Given the description of an element on the screen output the (x, y) to click on. 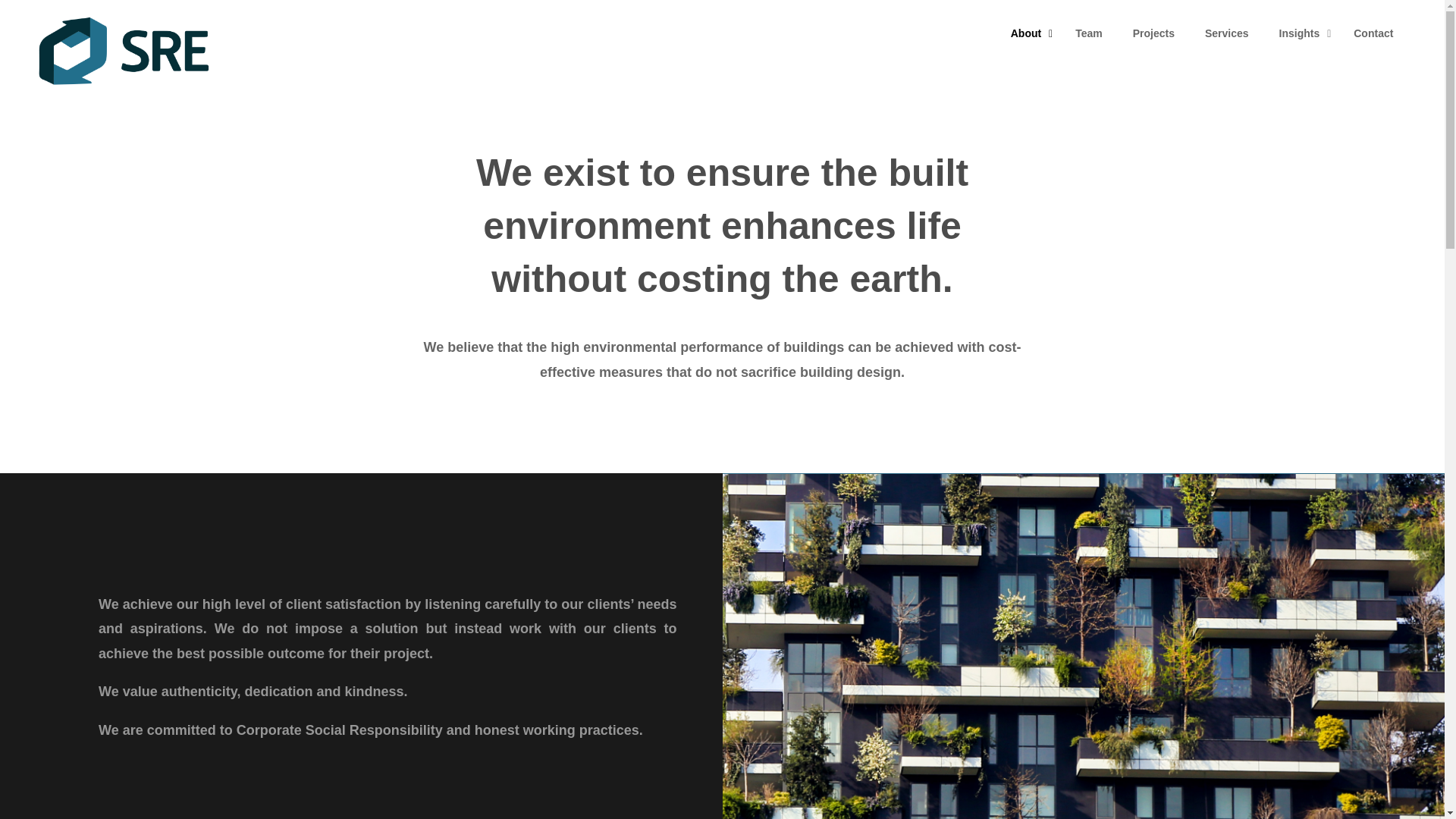
Services (1226, 33)
Projects (1153, 33)
Insights (1301, 33)
About (1027, 33)
Team (1202, 33)
Contact (1088, 33)
